Given the description of an element on the screen output the (x, y) to click on. 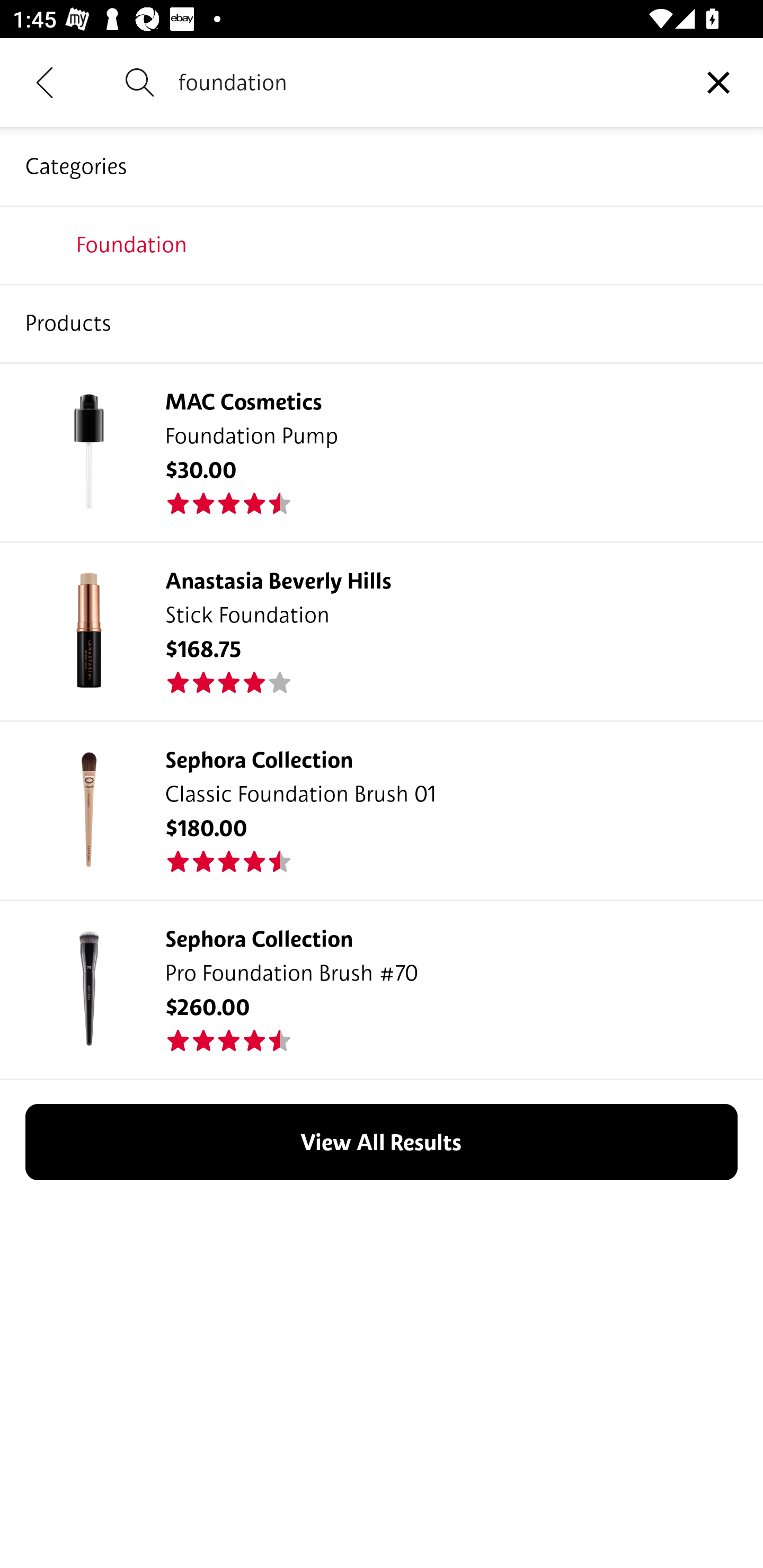
Navigate up (44, 82)
Clear query (718, 81)
foundation (425, 82)
rare beauty (381, 244)
supergoop! (381, 322)
the ordinary (381, 401)
Product Image MAC Cosmetics Foundation Pump $30.00 (381, 451)
sephora collection (381, 479)
View All Results (381, 1141)
